Given the description of an element on the screen output the (x, y) to click on. 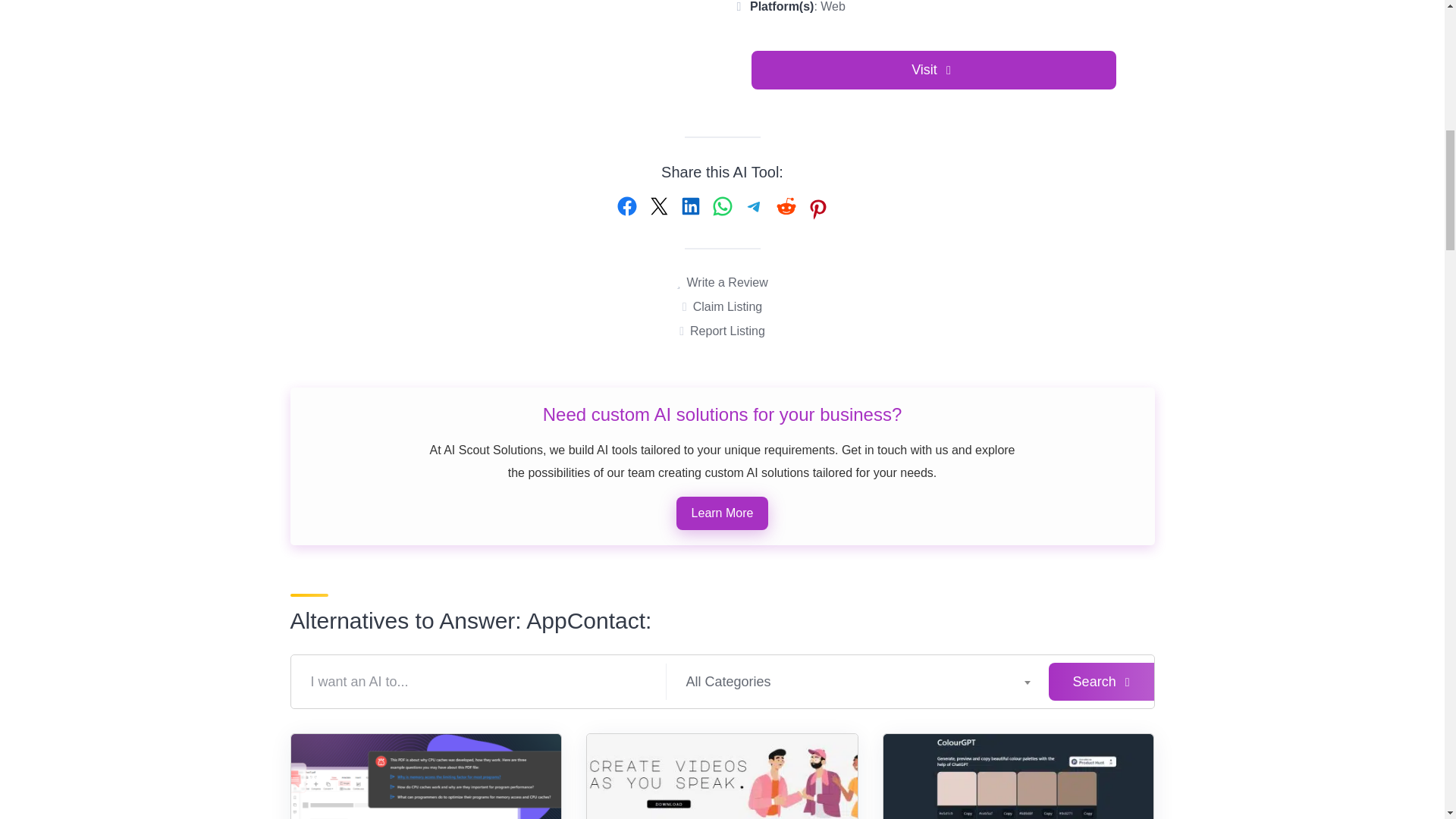
Share on WhatsApp (722, 205)
Share on Telegram (753, 205)
Share on LinkedIn (690, 205)
Visit (933, 69)
Claim Listing (721, 307)
Share on Facebook (627, 205)
Write a Review (722, 282)
Share on Reddit (785, 205)
Share on Pinterest (817, 209)
Email this Page (658, 205)
All Categories (857, 681)
Report Listing (722, 331)
